Given the description of an element on the screen output the (x, y) to click on. 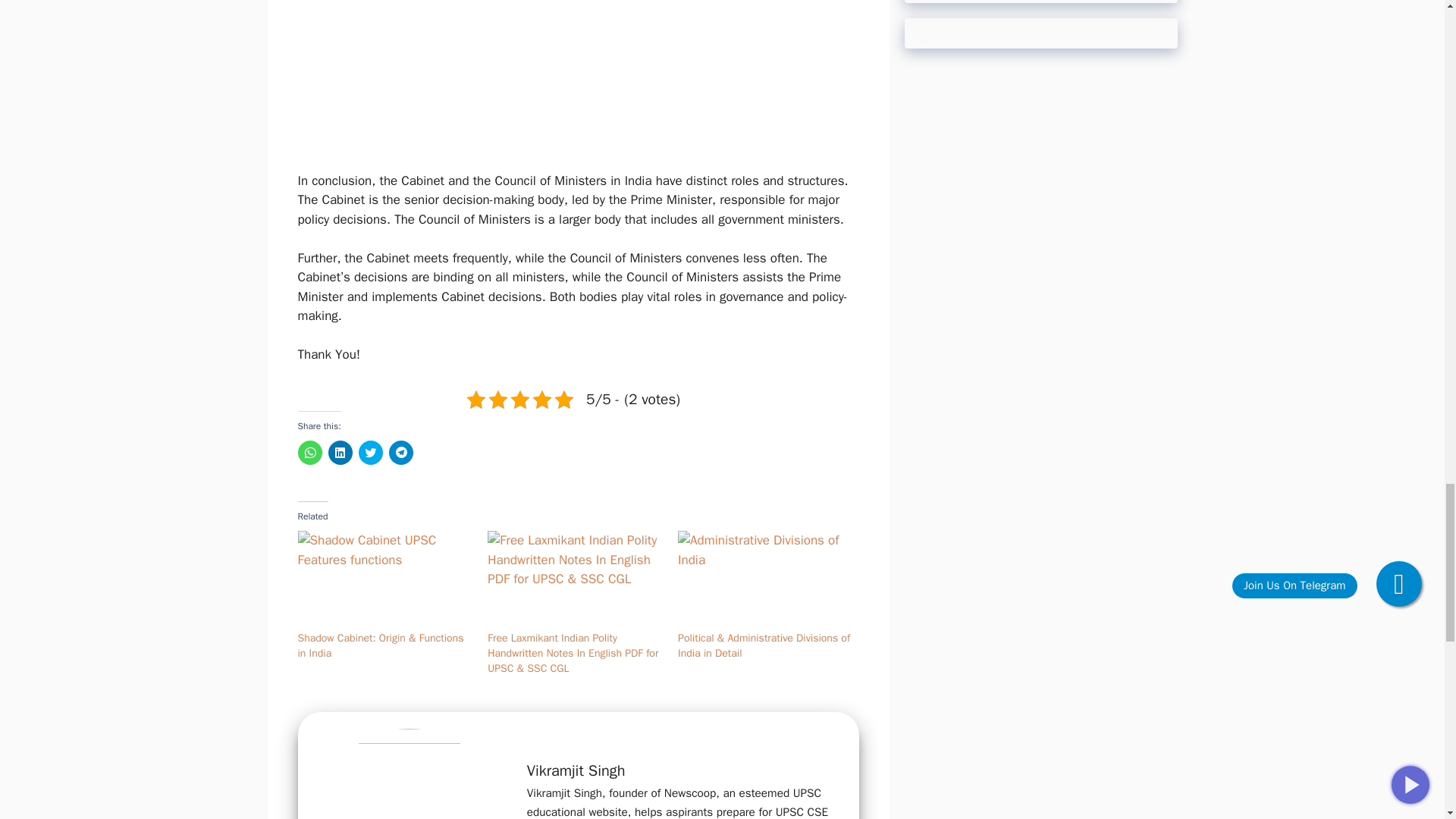
Click to share on Telegram (400, 452)
Click to share on Twitter (369, 452)
Click to share on WhatsApp (309, 452)
Click to share on LinkedIn (339, 452)
